Given the description of an element on the screen output the (x, y) to click on. 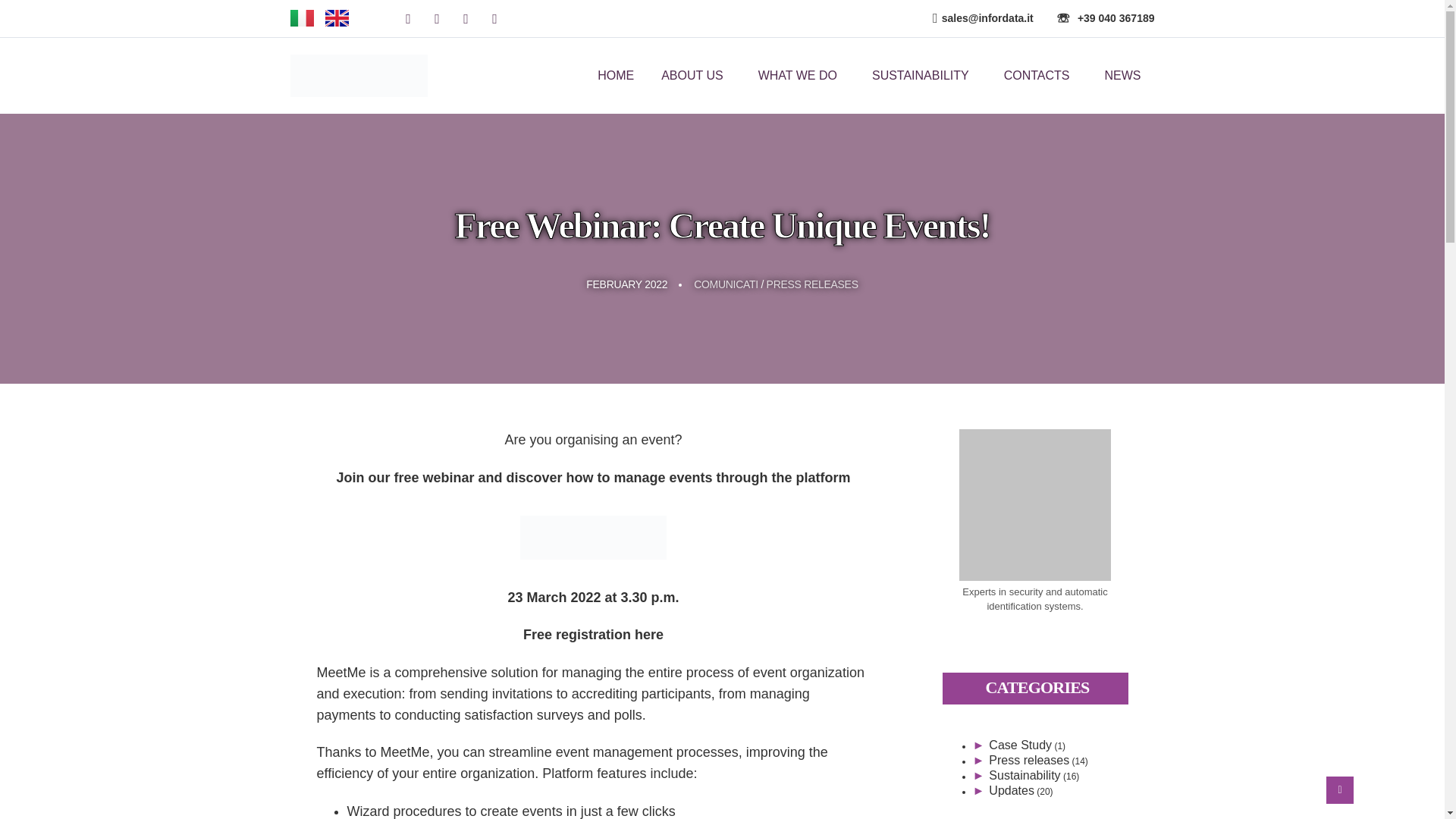
WHAT WE DO (801, 75)
SUSTAINABILITY (924, 75)
HOME (615, 75)
ABOUT US (695, 75)
